Given the description of an element on the screen output the (x, y) to click on. 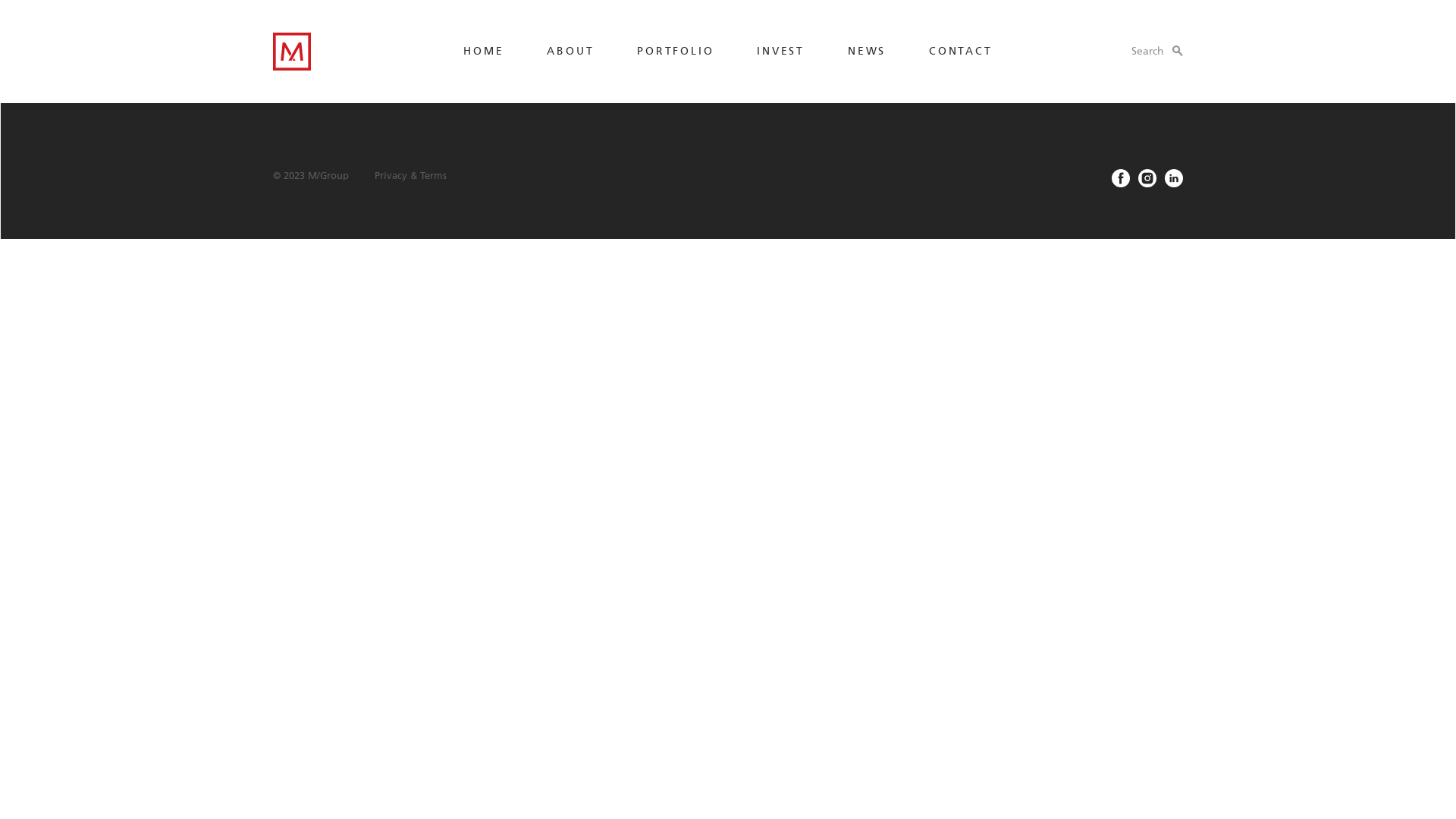
submit search Element type: text (1147, 274)
Find us on Facebook Element type: text (1120, 178)
CONTACT Element type: text (960, 51)
Find us on Instagram Element type: text (1147, 178)
NEWS Element type: text (866, 51)
M/Group Element type: text (291, 51)
ABOUT Element type: text (569, 51)
INVEST Element type: text (780, 51)
M/Group Element type: text (333, 176)
submit address Element type: text (1164, 76)
Search Element type: text (1157, 51)
HOME Element type: text (483, 51)
Find us on Linkedin Element type: text (1173, 178)
M Group Element type: text (293, 84)
Privacy & Terms Element type: text (410, 176)
PORTFOLIO Element type: text (675, 51)
